Given the description of an element on the screen output the (x, y) to click on. 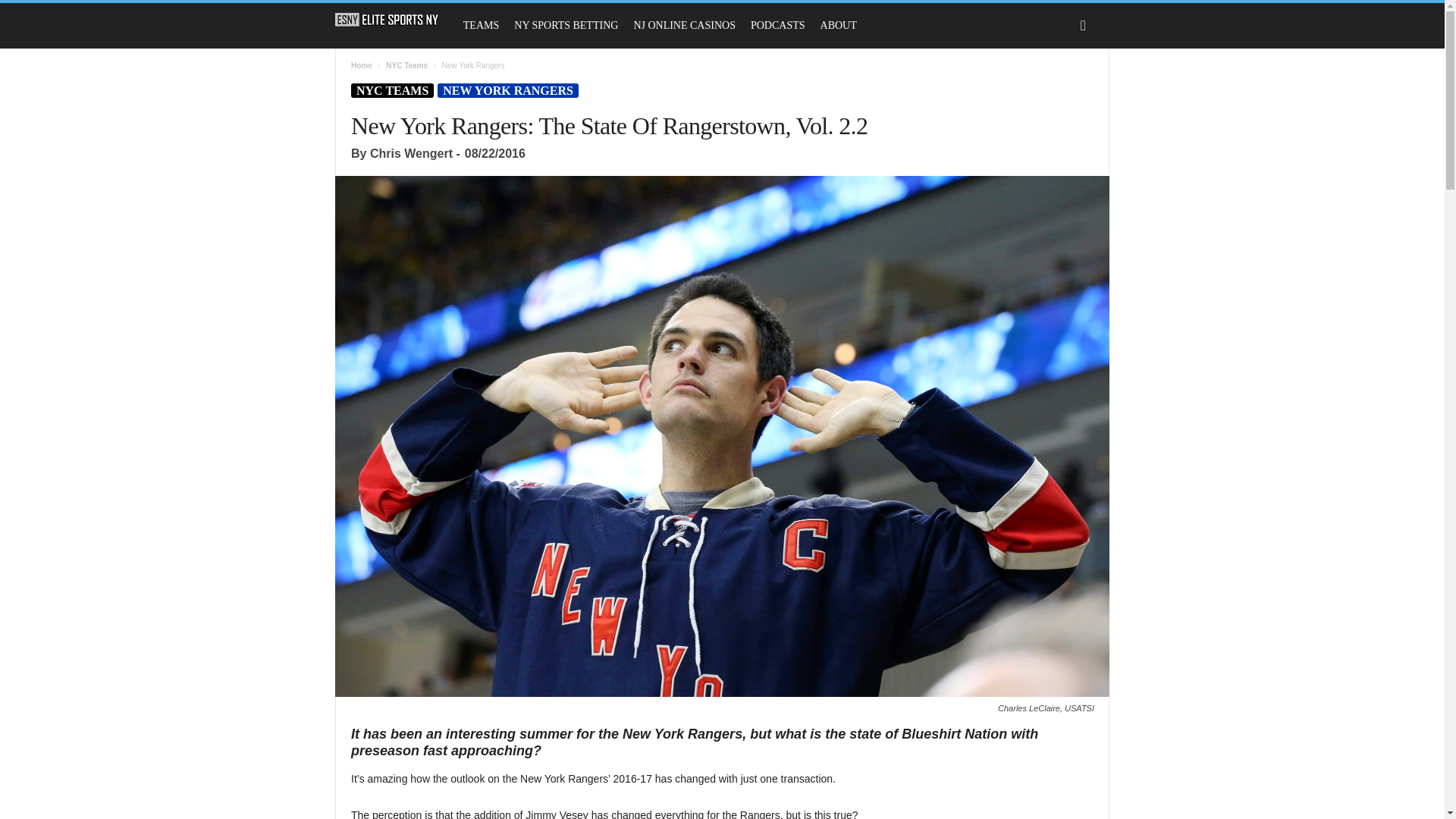
Elite Sports NY (386, 19)
View all posts in NYC Teams (406, 65)
TEAMS (480, 25)
Elite Sports NY (394, 19)
